Given the description of an element on the screen output the (x, y) to click on. 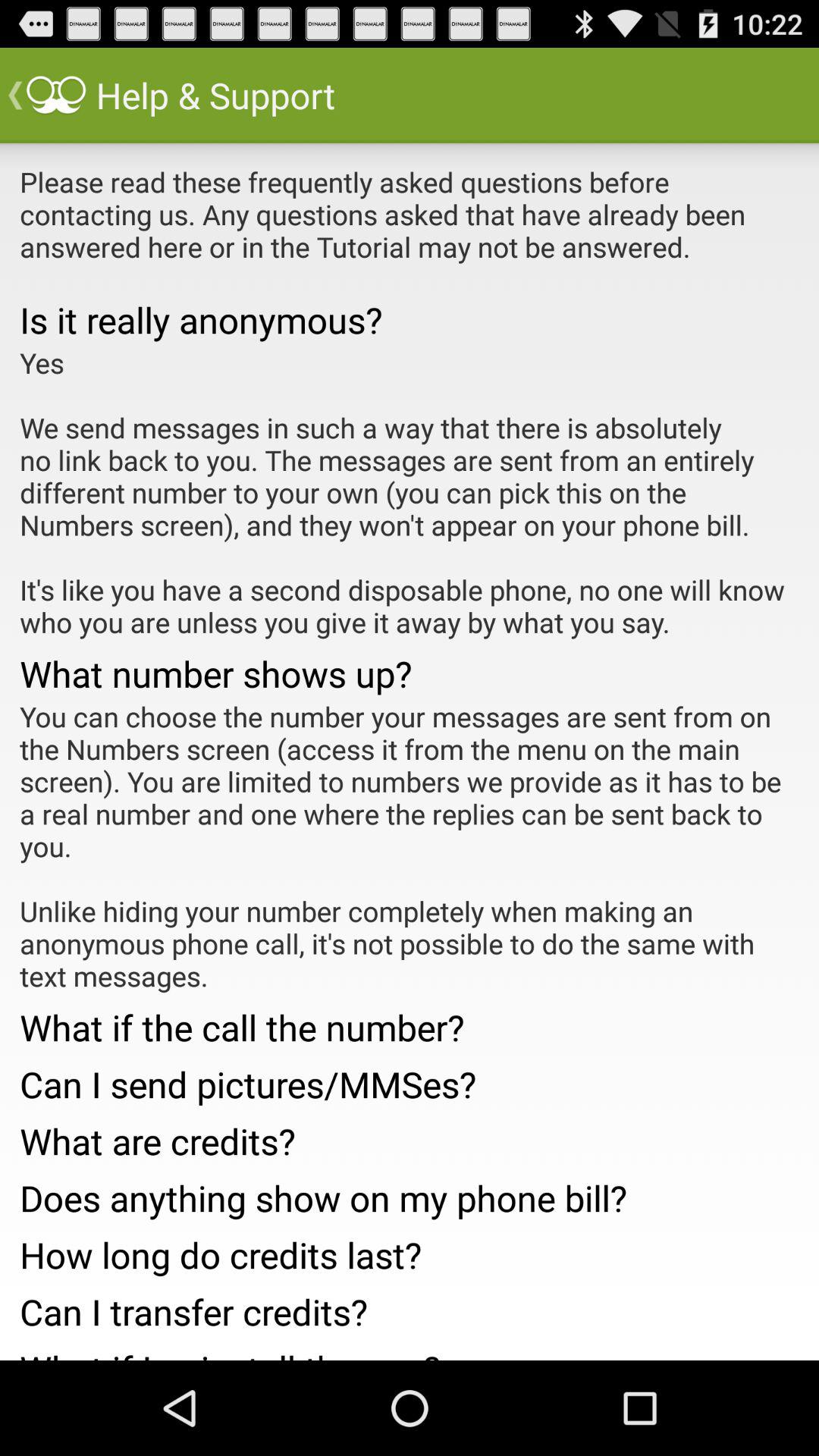
swipe until yes we send (409, 492)
